Given the description of an element on the screen output the (x, y) to click on. 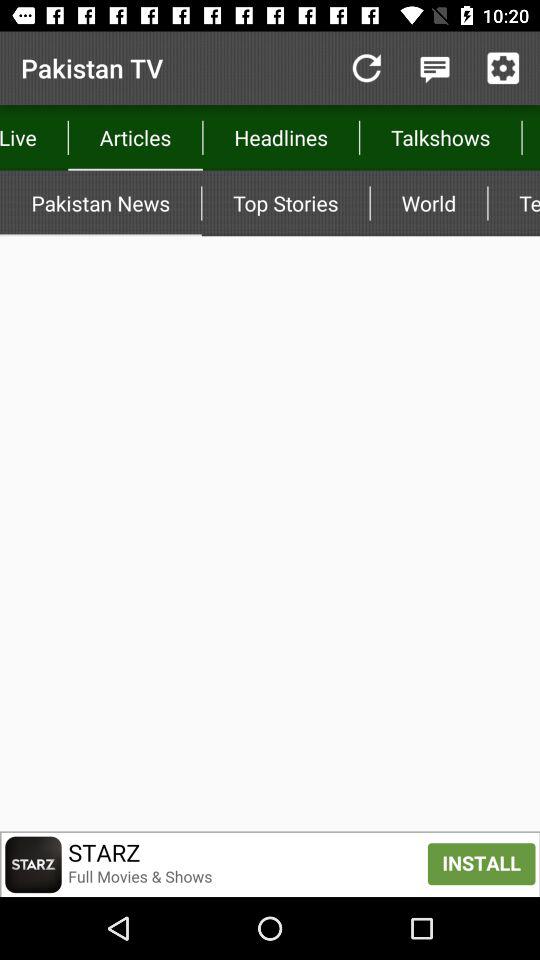
install starz app (270, 864)
